Given the description of an element on the screen output the (x, y) to click on. 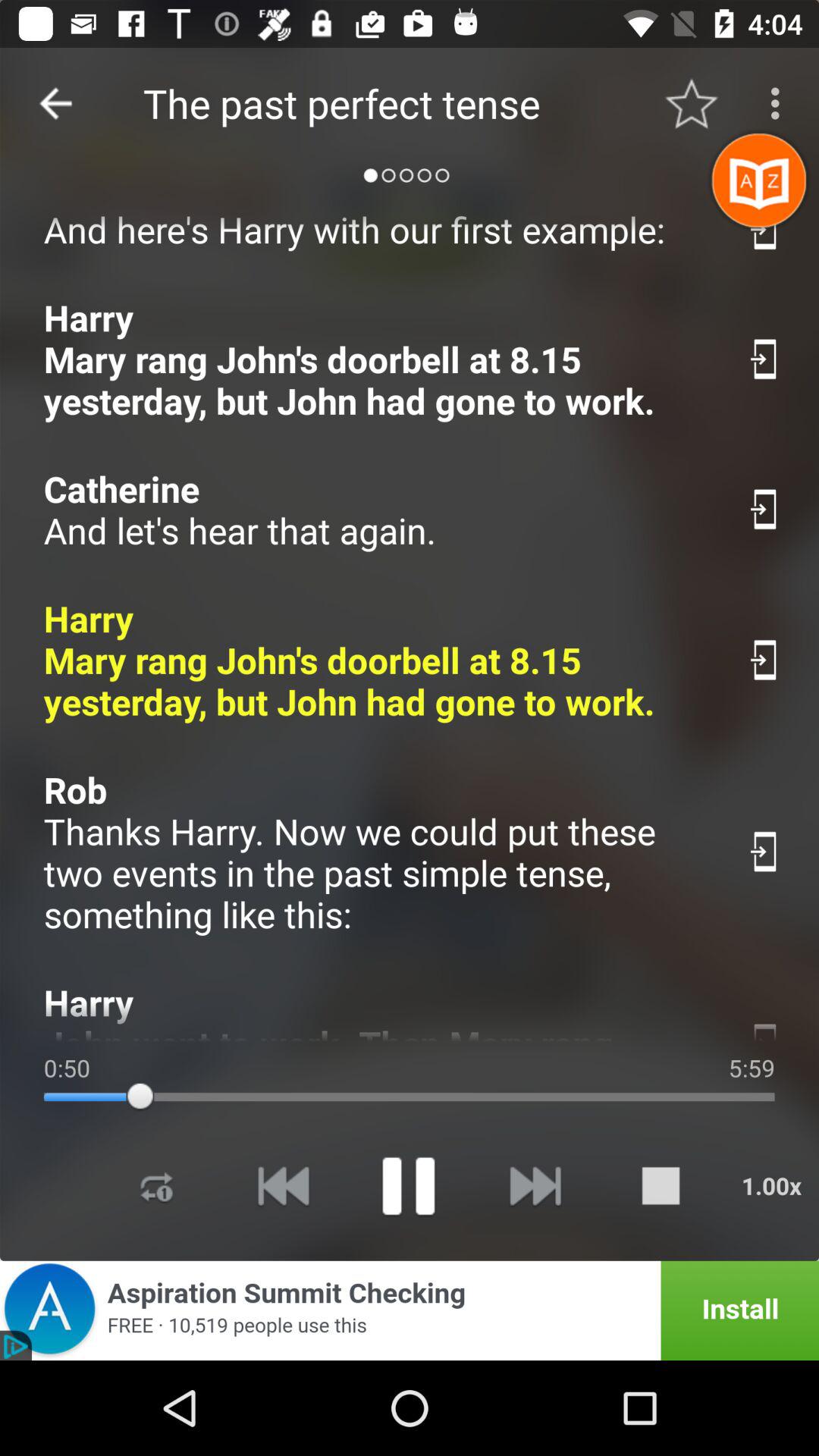
go back (55, 103)
